Given the description of an element on the screen output the (x, y) to click on. 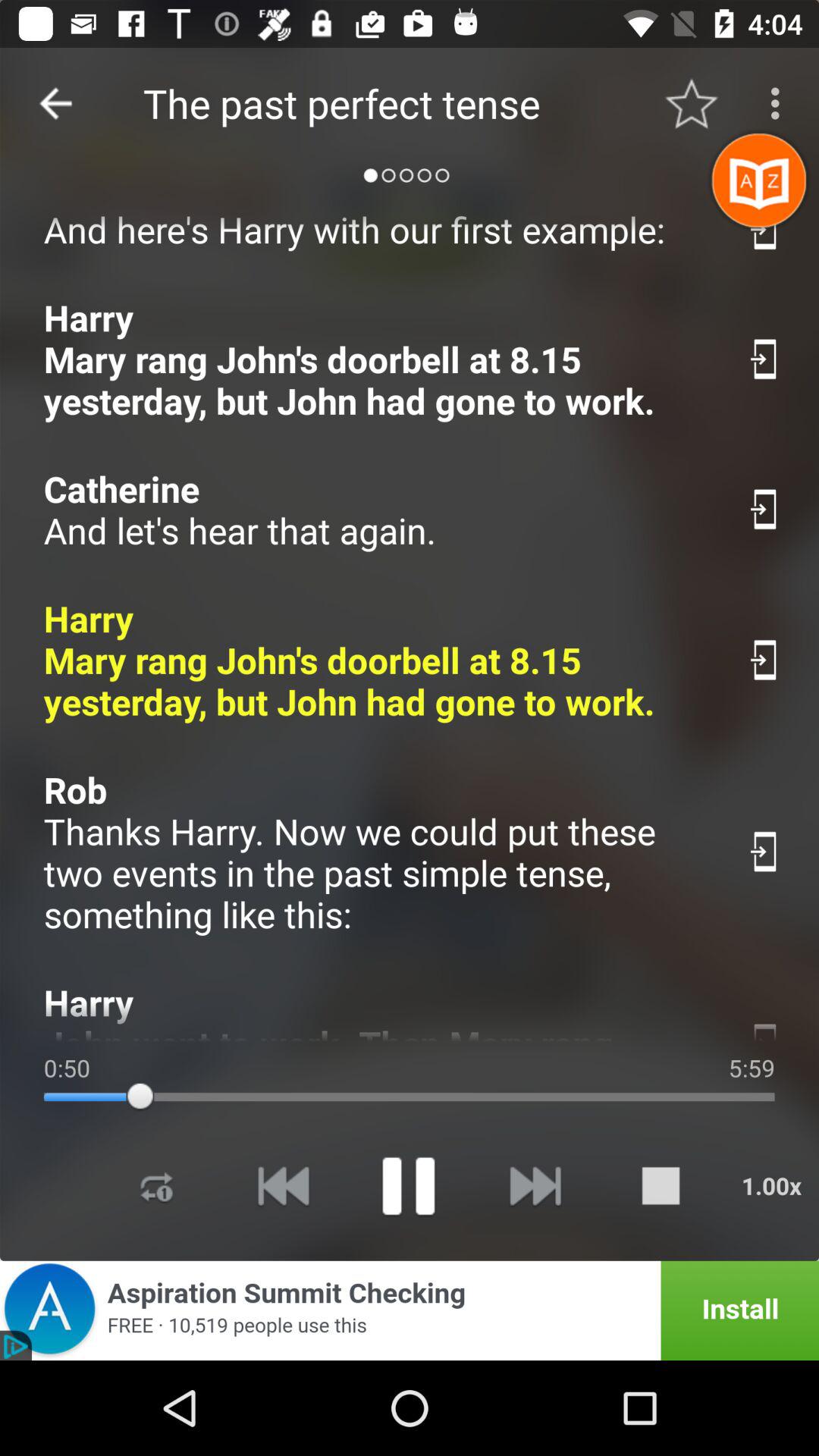
go back (55, 103)
